Given the description of an element on the screen output the (x, y) to click on. 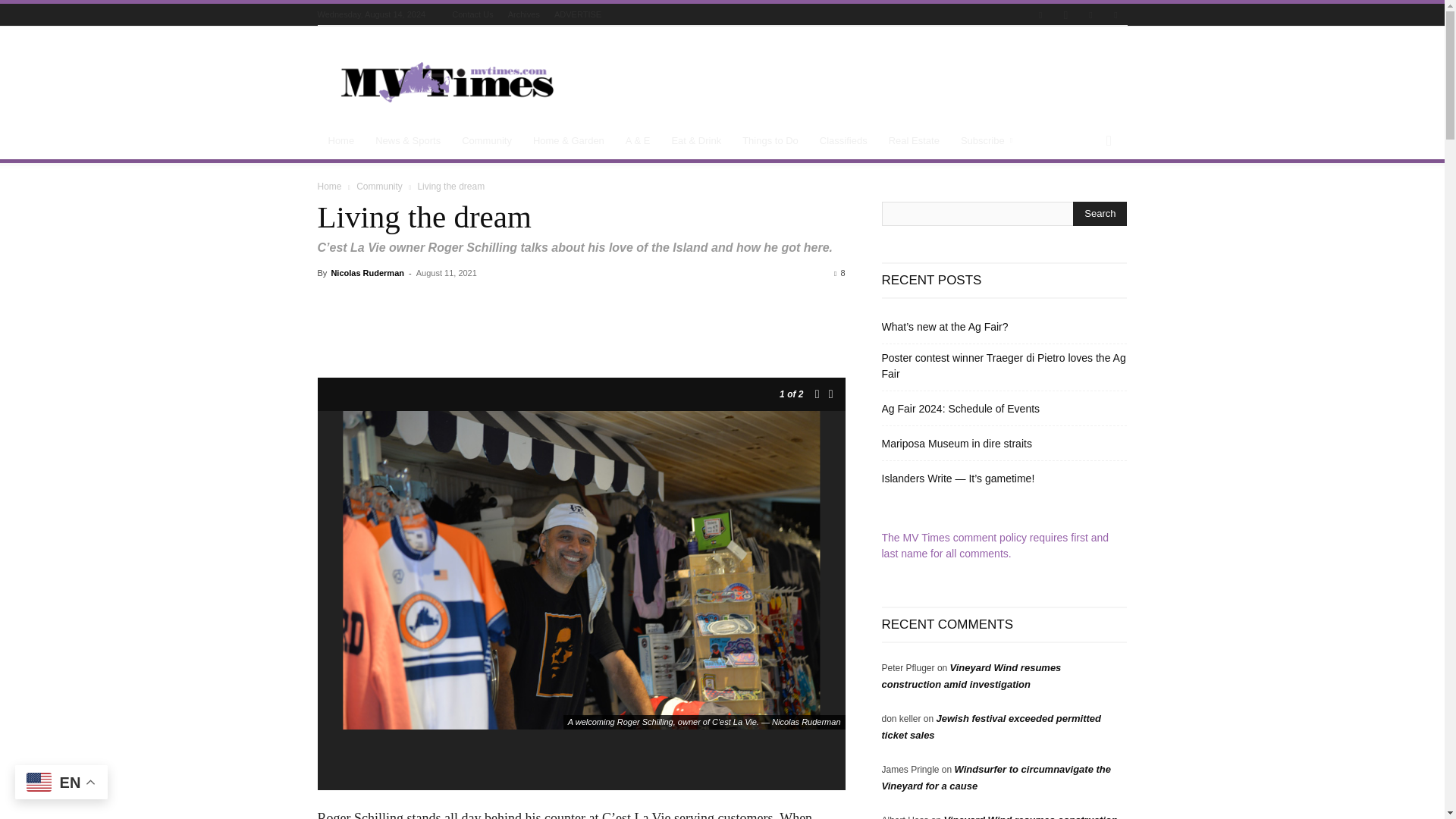
Facebook (1040, 14)
Home (341, 140)
Youtube (1114, 14)
ADVERTISE (577, 13)
Real Estate (913, 140)
View all posts in Community (379, 185)
Twitter (1090, 14)
3rd party ad content (850, 81)
Community (486, 140)
Things to Do (770, 140)
